Given the description of an element on the screen output the (x, y) to click on. 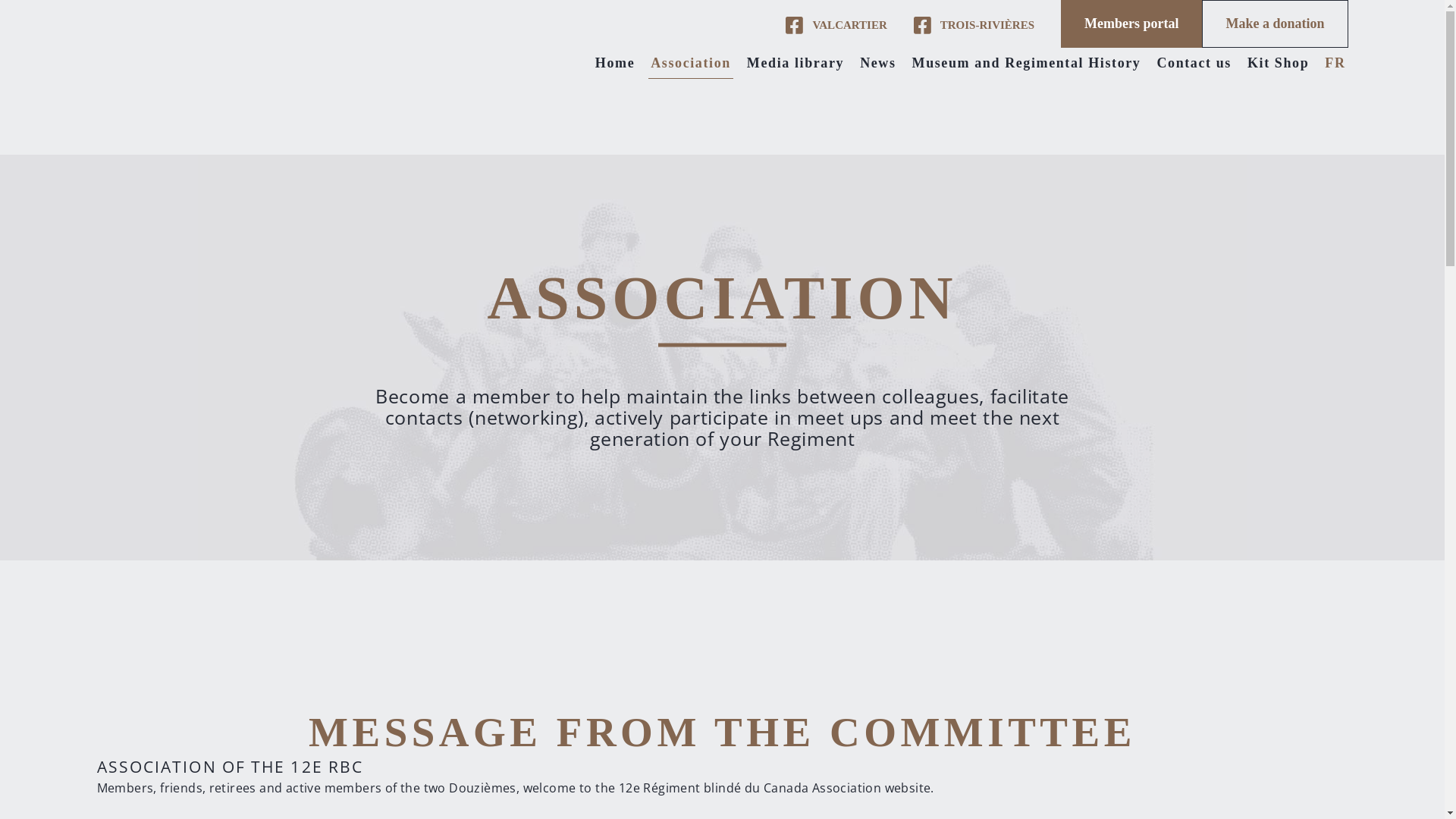
Contact us Element type: text (1193, 62)
Association Element type: text (690, 62)
FR Element type: text (1334, 62)
Home Element type: text (615, 62)
VALCARTIER Element type: text (835, 29)
Kit Shop Element type: text (1278, 62)
News Element type: text (877, 62)
Make a donation Element type: text (1274, 23)
Media library Element type: text (795, 62)
Members portal Element type: text (1130, 23)
Museum and Regimental History Element type: text (1026, 62)
